Given the description of an element on the screen output the (x, y) to click on. 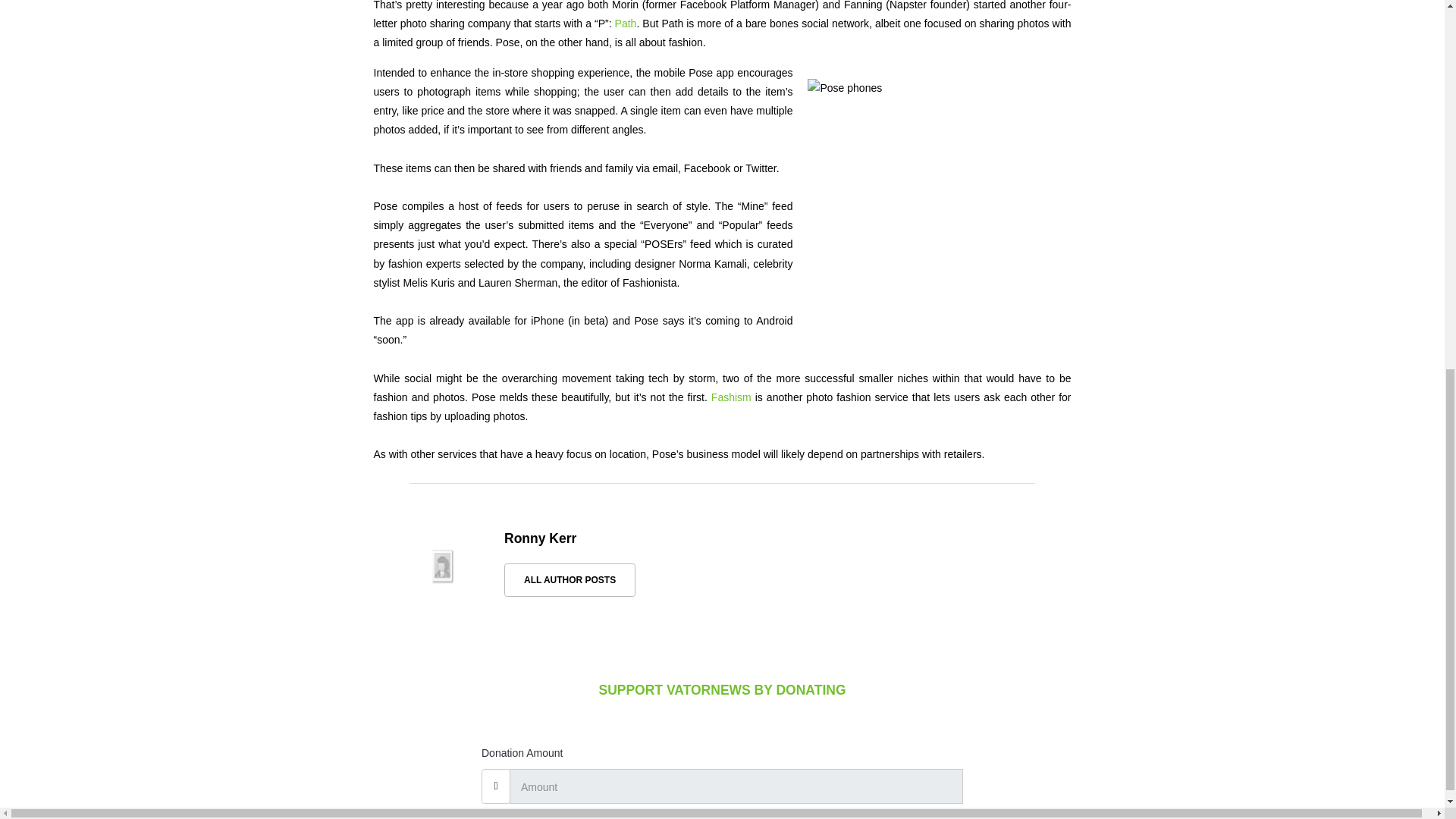
Pose phones (931, 208)
Fashism (731, 397)
ALL AUTHOR POSTS (568, 580)
Ronny Kerr (539, 538)
Path (625, 23)
